Given the description of an element on the screen output the (x, y) to click on. 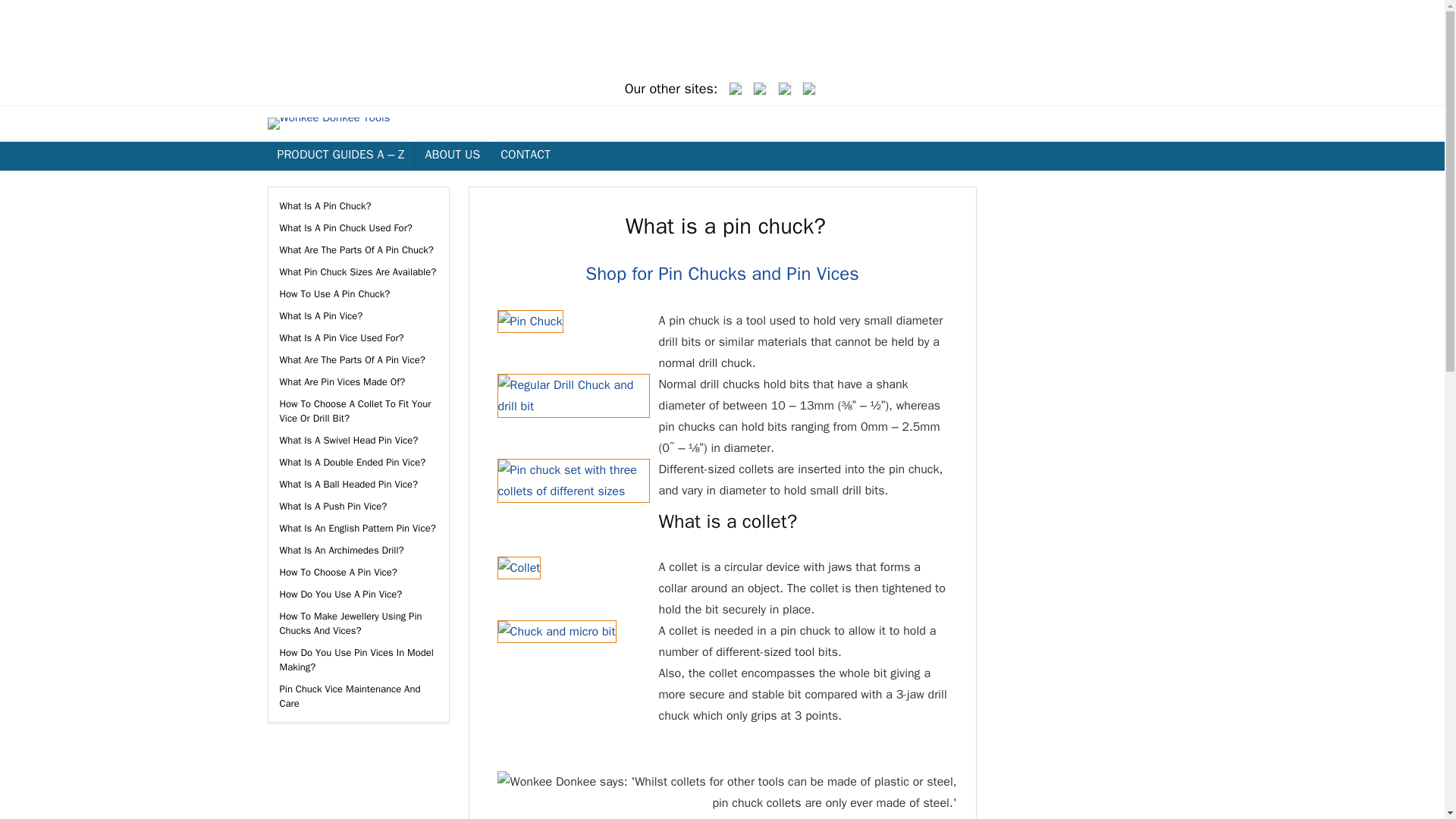
How To Choose A Pin Vice? (337, 571)
What Is A Swivel Head Pin Vice? (348, 440)
CONTACT (525, 155)
How To Use A Pin Chuck? (334, 293)
What Is A Ball Headed Pin Vice? (348, 483)
Advertisement (1110, 280)
Pin Chuck Vice Maintenance And Care (349, 696)
Pin Chuck (530, 321)
What Is A Pin Vice Used For? (341, 337)
How To Make Jewellery Using Pin Chucks And Vices? (350, 623)
Shop for Pin Chucks and Pin Vices (722, 273)
How Do You Use Pin Vices In Model Making? (355, 659)
What Are The Parts Of A Pin Chuck? (355, 249)
Wonkee Donkee says... (726, 792)
Regular Drill Chuck and drill bit (573, 395)
